Given the description of an element on the screen output the (x, y) to click on. 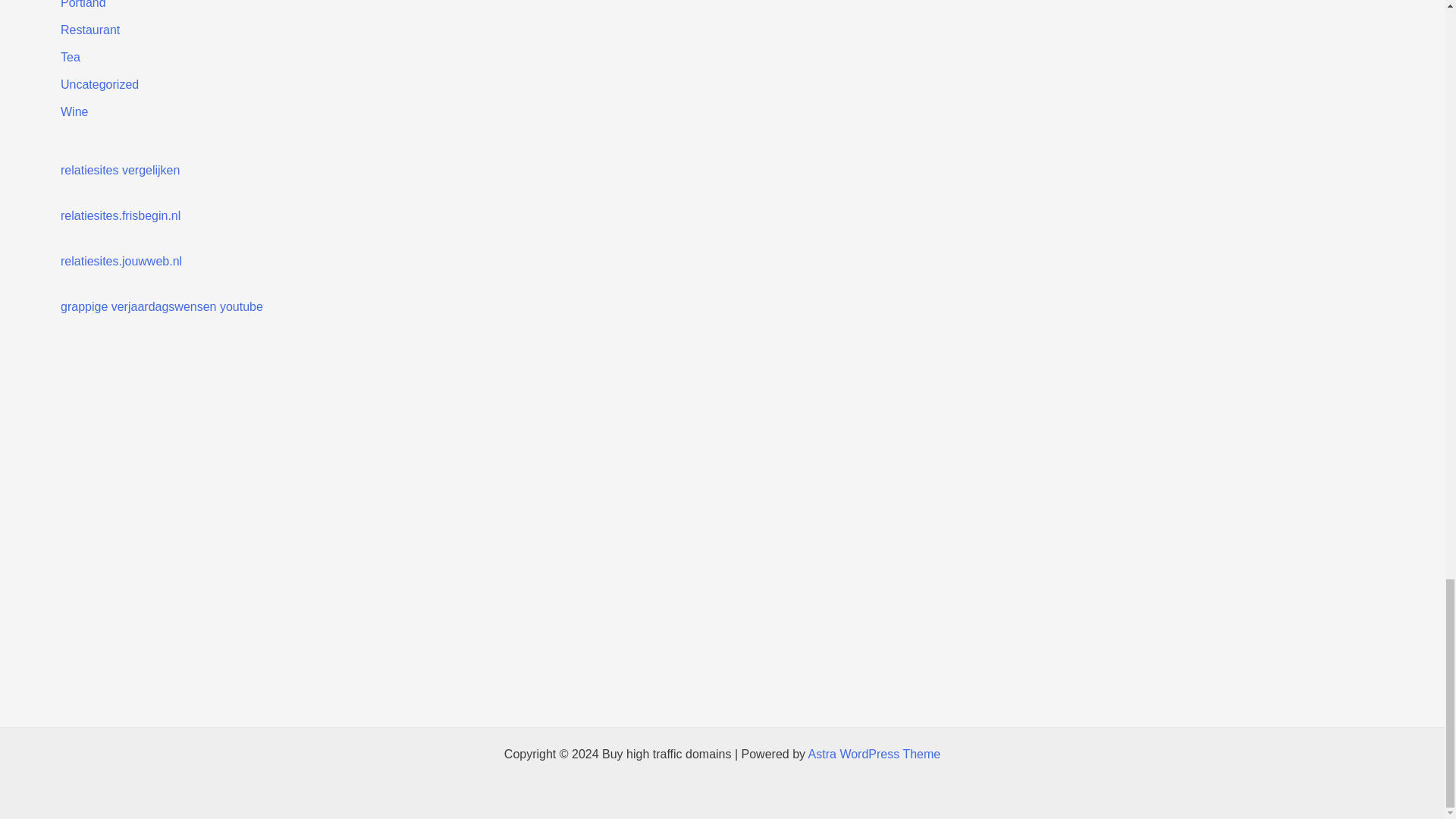
relatiesites.frisbegin.nl (120, 215)
grappige verjaardagswensen youtube (162, 306)
Advertisement (744, 431)
Tea (70, 56)
Advertisement (721, 685)
relatiesites.jouwweb.nl (121, 260)
Advertisement (721, 602)
Wine (74, 111)
Uncategorized (99, 83)
Astra WordPress Theme (874, 753)
